Given the description of an element on the screen output the (x, y) to click on. 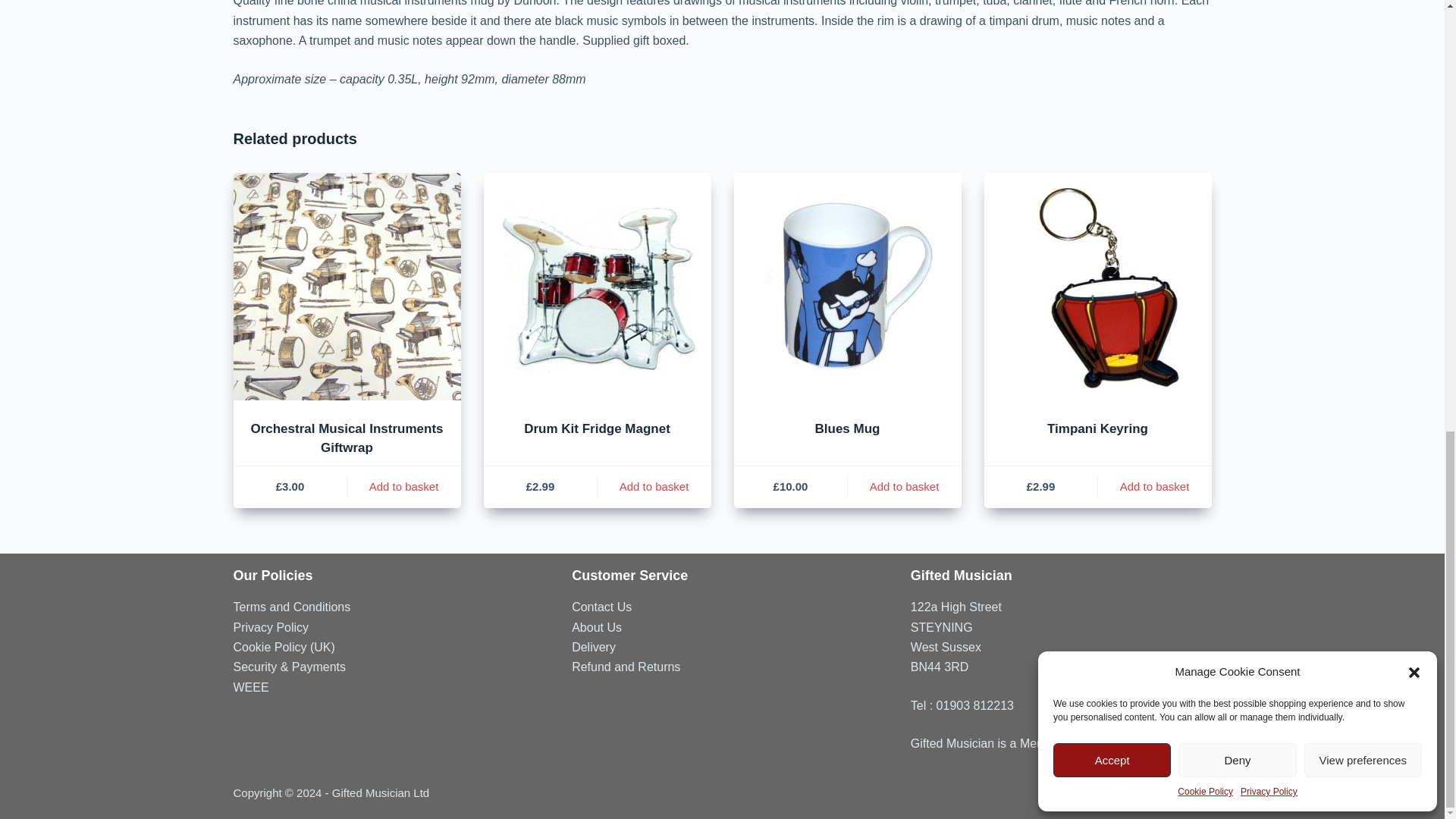
Timpani PVC Keyring (1097, 286)
Orchestral Instruments Giftwrap (346, 286)
Blues Mug (846, 286)
Drum Kit Fridge Magnet (597, 286)
